Given the description of an element on the screen output the (x, y) to click on. 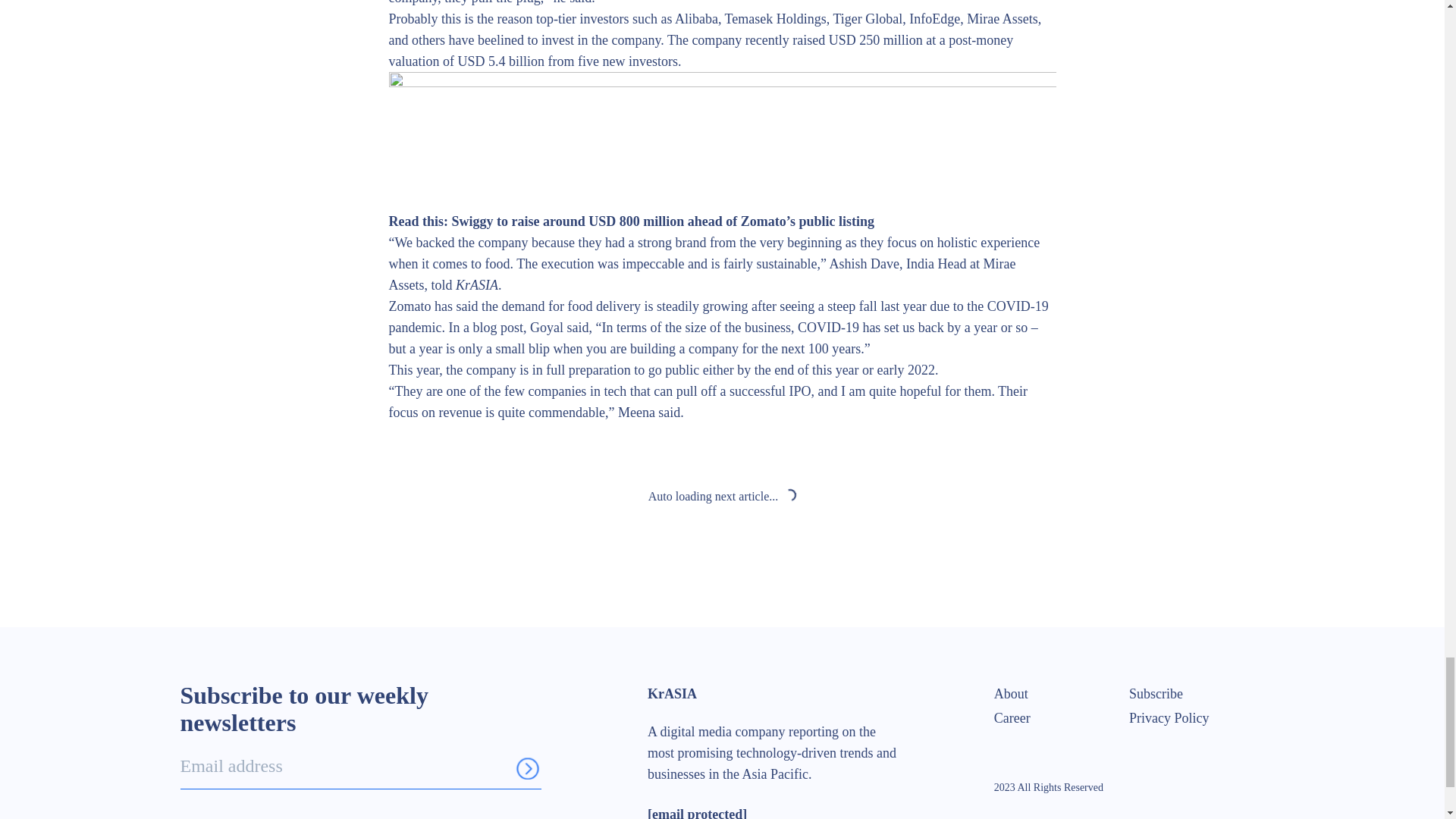
blog post (496, 327)
demand for food delivery is steadily growing (624, 305)
